Given the description of an element on the screen output the (x, y) to click on. 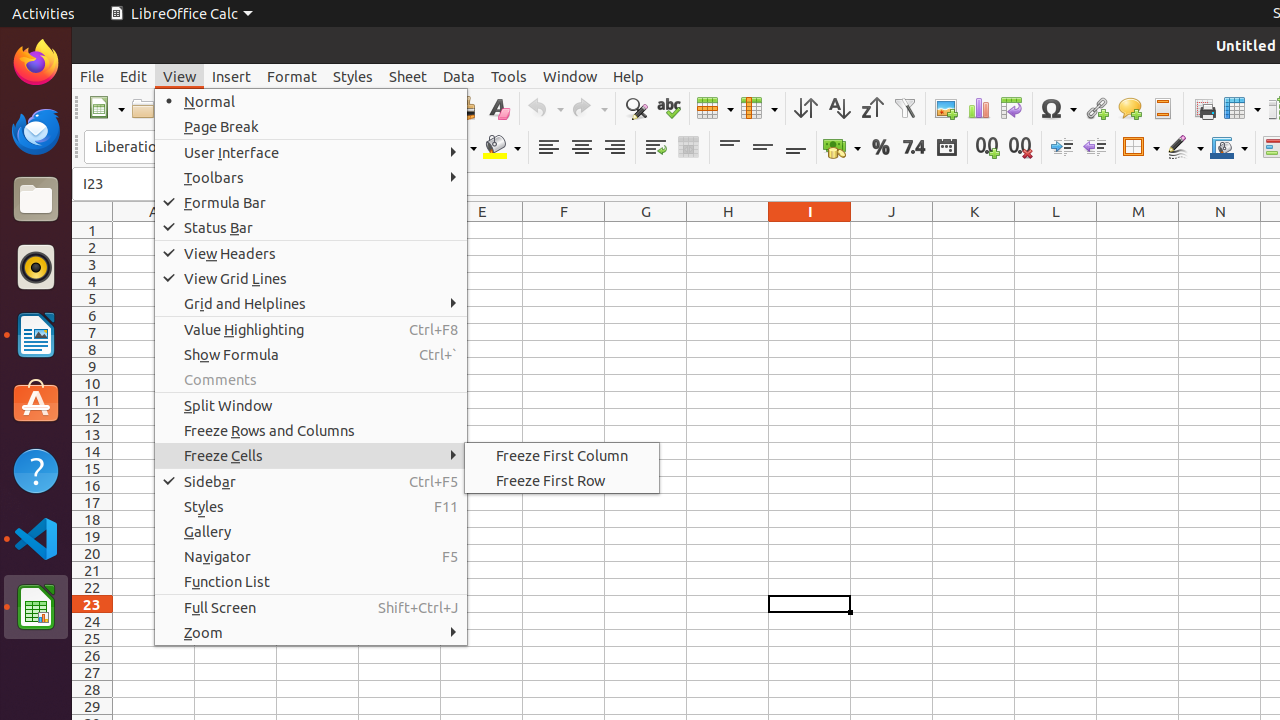
Redo Element type: push-button (589, 108)
L1 Element type: table-cell (1056, 230)
Column Element type: push-button (759, 108)
View Element type: menu (179, 76)
N1 Element type: table-cell (1220, 230)
